Given the description of an element on the screen output the (x, y) to click on. 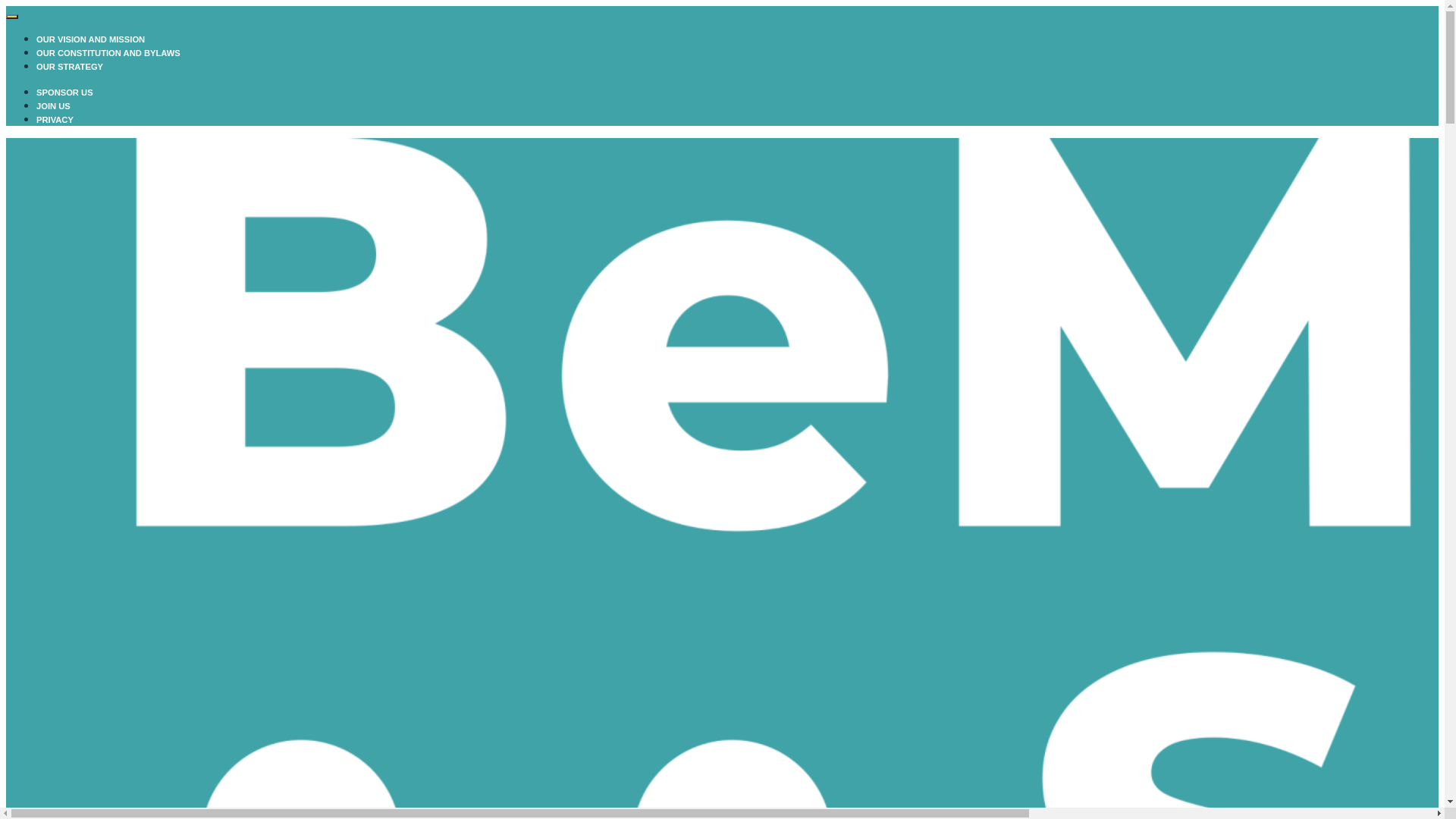
Skip to content Element type: text (5, 5)
PRIVACY Element type: text (54, 119)
OUR VISION AND MISSION Element type: text (90, 38)
JOIN US Element type: text (53, 105)
SPONSOR US Element type: text (64, 92)
OUR CONSTITUTION AND BYLAWS Element type: text (108, 52)
OUR STRATEGY Element type: text (69, 66)
